Given the description of an element on the screen output the (x, y) to click on. 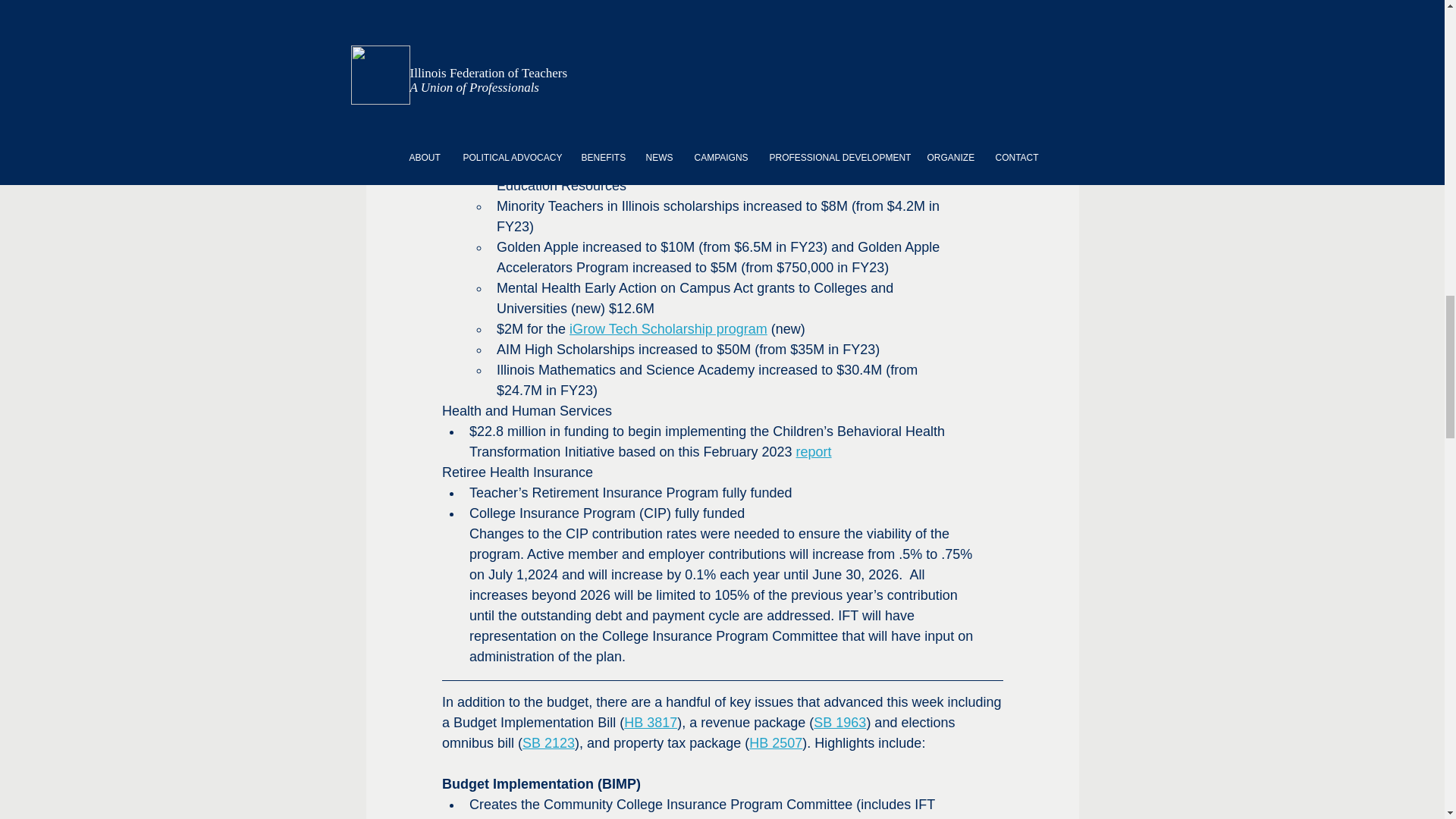
SB 2123 (548, 743)
HB 3817 (650, 721)
SB 1963 (839, 721)
report (812, 451)
iGrow Tech Scholarship program (668, 328)
HB 2507 (775, 743)
